Given the description of an element on the screen output the (x, y) to click on. 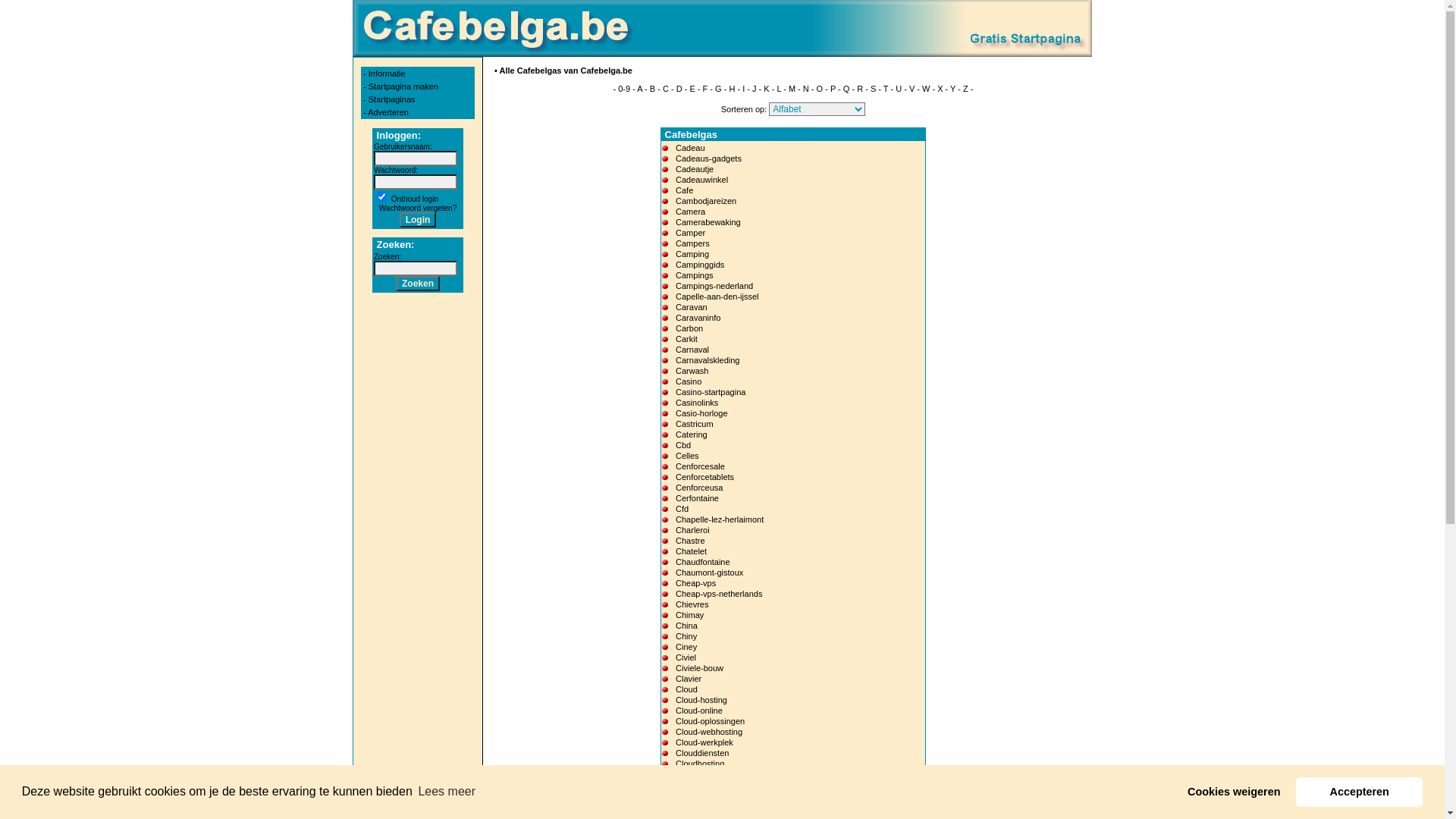
Chatelet Element type: text (690, 550)
Cloud-oplossingen Element type: text (709, 720)
Cafe Element type: text (684, 189)
Startpagina maken Element type: text (403, 86)
Camerabewaking Element type: text (707, 221)
Z Element type: text (965, 88)
J Element type: text (754, 88)
N Element type: text (806, 88)
K Element type: text (765, 88)
C Element type: text (665, 88)
Carnavalskleding Element type: text (707, 359)
Cloudhosting Element type: text (699, 763)
Carkit Element type: text (686, 338)
I Element type: text (743, 88)
Carnaval Element type: text (692, 349)
Casinolinks Element type: text (696, 402)
Cadeautje Element type: text (694, 168)
Wachtwoord vergeten? Element type: text (417, 207)
Q Element type: text (846, 88)
Cenforcesale Element type: text (699, 465)
E Element type: text (691, 88)
A Element type: text (639, 88)
Ciney Element type: text (685, 646)
Zoeken: Element type: text (387, 256)
Cmsafkorting Element type: text (699, 784)
Accepteren Element type: text (1358, 791)
Campinggids Element type: text (699, 264)
Casio-horloge Element type: text (701, 412)
Cloud-webhosting Element type: text (708, 731)
Coaching Element type: text (692, 805)
G Element type: text (718, 88)
U Element type: text (898, 88)
Cloud-werkplek Element type: text (704, 741)
Chapelle-lez-herlaimont Element type: text (719, 519)
D Element type: text (679, 88)
Chaumont-gistoux Element type: text (709, 572)
S Element type: text (872, 88)
Chiny Element type: text (685, 635)
X Element type: text (939, 88)
Informatie Element type: text (386, 73)
Chaudfontaine Element type: text (702, 561)
Lees meer Element type: text (446, 791)
Caravaninfo Element type: text (697, 317)
Chimay Element type: text (689, 614)
Cadeau Element type: text (690, 147)
Civiele-bouw Element type: text (699, 667)
W Element type: text (925, 88)
Celles Element type: text (687, 455)
Login Element type: text (417, 219)
Cloud-online Element type: text (698, 710)
Cenforcetablets Element type: text (704, 476)
Clavier Element type: text (688, 678)
Campers Element type: text (692, 242)
V Element type: text (911, 88)
Clouddiensten Element type: text (701, 752)
Cerfontaine Element type: text (696, 497)
F Element type: text (705, 88)
Camera Element type: text (690, 211)
R Element type: text (859, 88)
Castricum Element type: text (694, 423)
Campings Element type: text (694, 274)
Adverteren Element type: text (387, 111)
0-9 Element type: text (624, 88)
Civiel Element type: text (685, 657)
O Element type: text (819, 88)
Cloud Element type: text (686, 688)
Charleroi Element type: text (692, 529)
Casino-startpagina Element type: text (710, 391)
Caravan Element type: text (691, 306)
Zoeken Element type: text (417, 283)
P Element type: text (832, 88)
Y Element type: text (952, 88)
Cloudoplossing Element type: text (703, 773)
T Element type: text (885, 88)
Cbd Element type: text (682, 444)
Cheap-vps-netherlands Element type: text (718, 593)
Campings-nederland Element type: text (714, 285)
Capelle-aan-den-ijssel Element type: text (716, 296)
Cambodjareizen Element type: text (705, 200)
Cadeauwinkel Element type: text (701, 179)
Cloud-hosting Element type: text (701, 699)
Camper Element type: text (690, 232)
Cookies weigeren Element type: text (1233, 791)
Coach Element type: text (687, 795)
M Element type: text (791, 88)
H Element type: text (731, 88)
Camping Element type: text (692, 253)
Cfd Element type: text (681, 508)
Carwash Element type: text (691, 370)
Carbon Element type: text (688, 327)
L Element type: text (778, 88)
Cadeaus-gadgets Element type: text (708, 158)
Startpaginas Element type: text (391, 98)
China Element type: text (686, 625)
Catering Element type: text (691, 434)
Chastre Element type: text (690, 540)
B Element type: text (652, 88)
Casino Element type: text (688, 380)
Cheap-vps Element type: text (695, 582)
Cenforceusa Element type: text (698, 487)
Chievres Element type: text (691, 603)
